Given the description of an element on the screen output the (x, y) to click on. 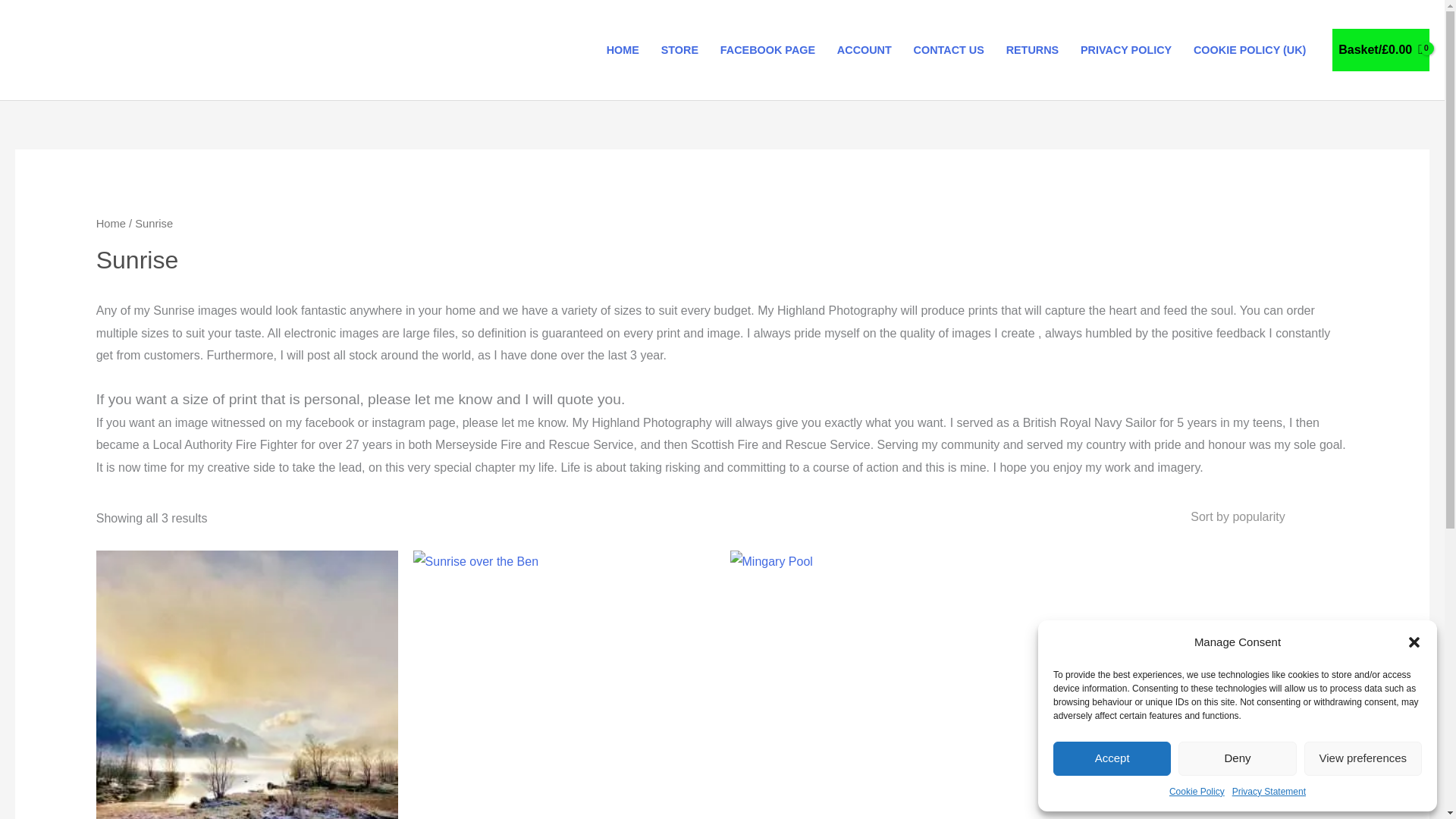
Cookie Policy (1196, 791)
CONTACT US (948, 49)
FACEBOOK PAGE (767, 49)
Home (110, 223)
PRIVACY POLICY (1126, 49)
Deny (1236, 758)
View preferences (1363, 758)
Accept (1111, 758)
ACCOUNT (863, 49)
Privacy Statement (1268, 791)
RETURNS (1031, 49)
